Given the description of an element on the screen output the (x, y) to click on. 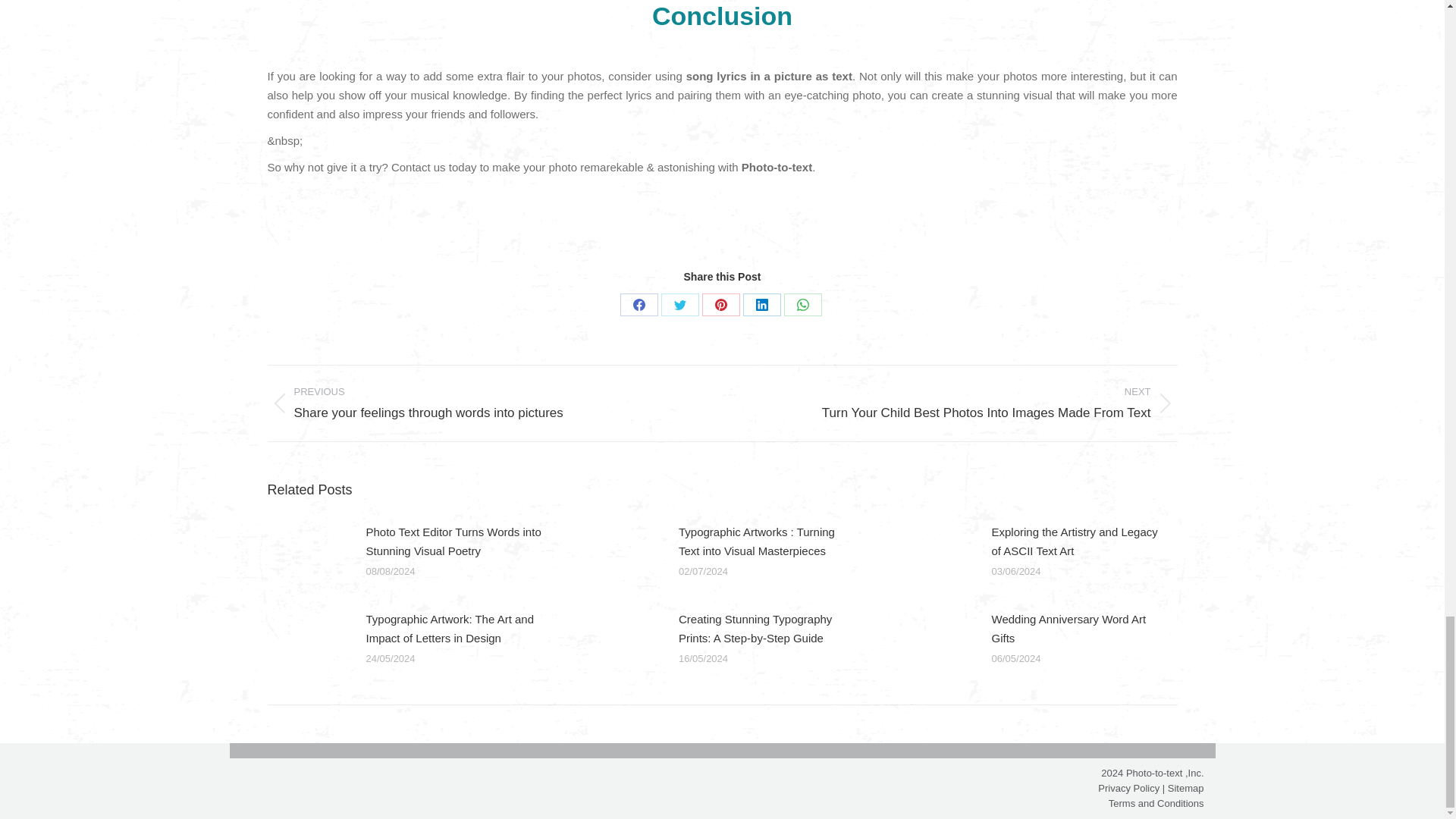
X (679, 304)
Pinterest (720, 304)
Facebook (639, 304)
LinkedIn (761, 304)
WhatsApp (803, 304)
